Given the description of an element on the screen output the (x, y) to click on. 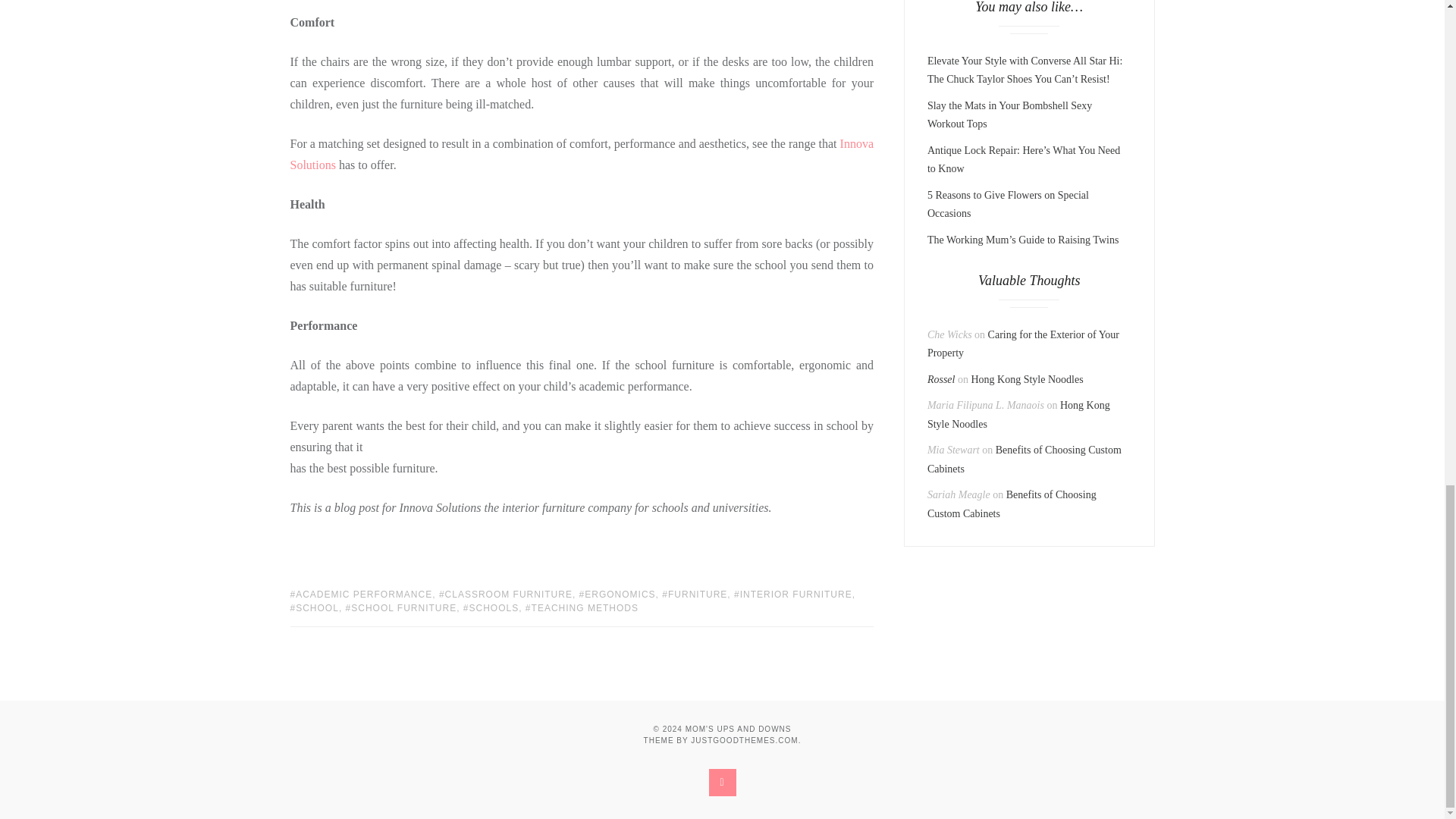
SCHOOL FURNITURE (401, 607)
TEACHING METHODS (582, 607)
SCHOOL (313, 607)
Hong Kong Style Noodles (1027, 378)
INTERIOR FURNITURE (792, 593)
Slay the Mats in Your Bombshell Sexy Workout Tops (1009, 114)
ACADEMIC PERFORMANCE (360, 593)
CLASSROOM FURNITURE (505, 593)
Innova Solutions (581, 154)
ERGONOMICS (617, 593)
5 Reasons to Give Flowers on Special Occasions (1008, 204)
Hong Kong Style Noodles (1018, 414)
SCHOOLS (490, 607)
Rossel (941, 378)
FURNITURE (694, 593)
